Given the description of an element on the screen output the (x, y) to click on. 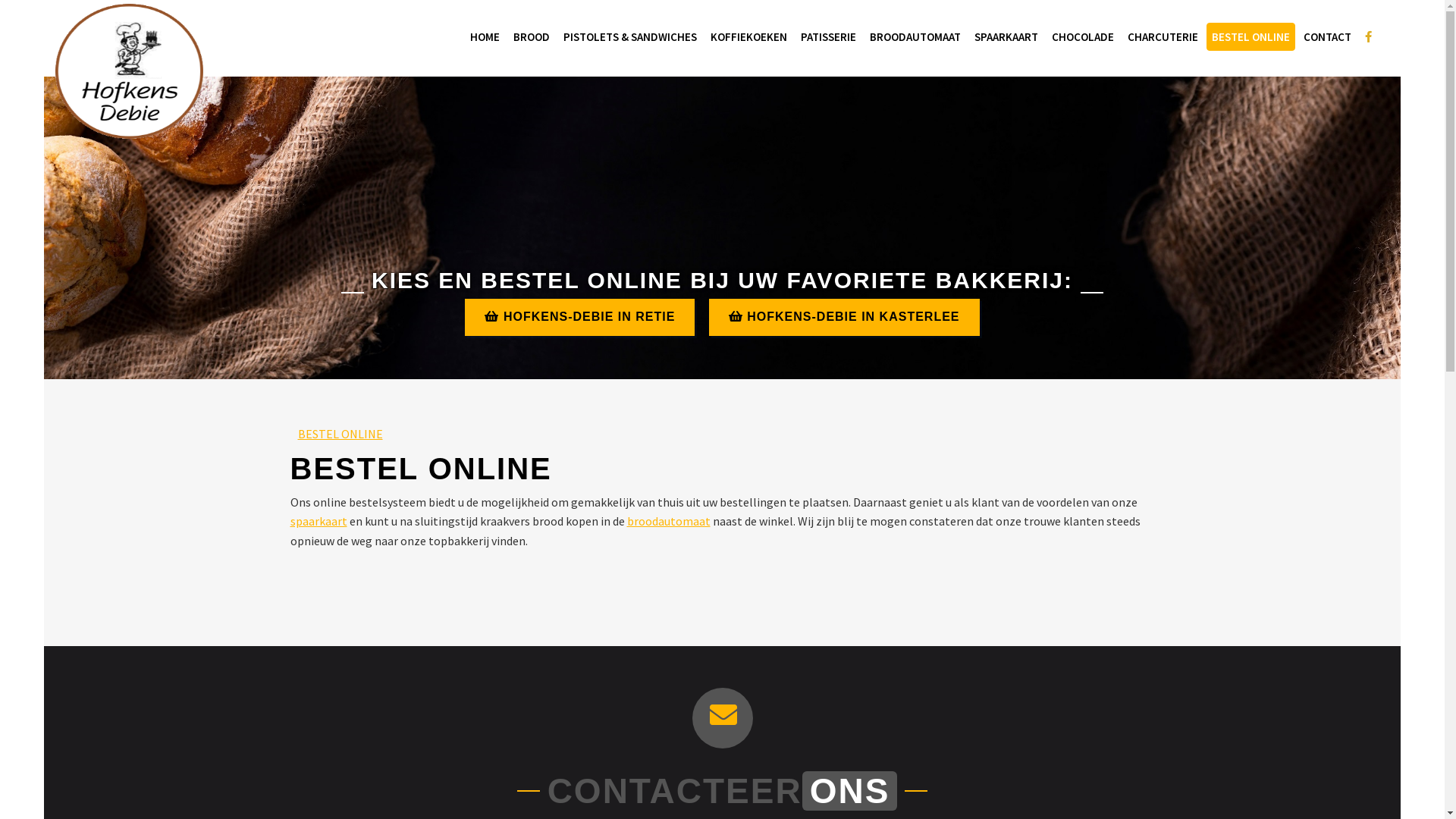
CHOCOLADE Element type: text (1082, 36)
spaarkaart Element type: text (317, 520)
SPAARKAART Element type: text (1006, 36)
BESTEL ONLINE Element type: text (339, 433)
BROOD Element type: text (531, 36)
ONS Element type: text (849, 790)
broodautomaat Element type: text (667, 520)
 HOFKENS-DEBIE IN KASTERLEE Element type: text (844, 316)
PISTOLETS & SANDWICHES Element type: text (630, 36)
BESTEL ONLINE Element type: text (1249, 36)
HOME Element type: text (484, 36)
CONTACT Element type: text (1327, 36)
PATISSERIE Element type: text (827, 36)
CHARCUTERIE Element type: text (1162, 36)
KOFFIEKOEKEN Element type: text (748, 36)
 HOFKENS-DEBIE IN RETIE Element type: text (579, 316)
BROODAUTOMAAT Element type: text (915, 36)
